Given the description of an element on the screen output the (x, y) to click on. 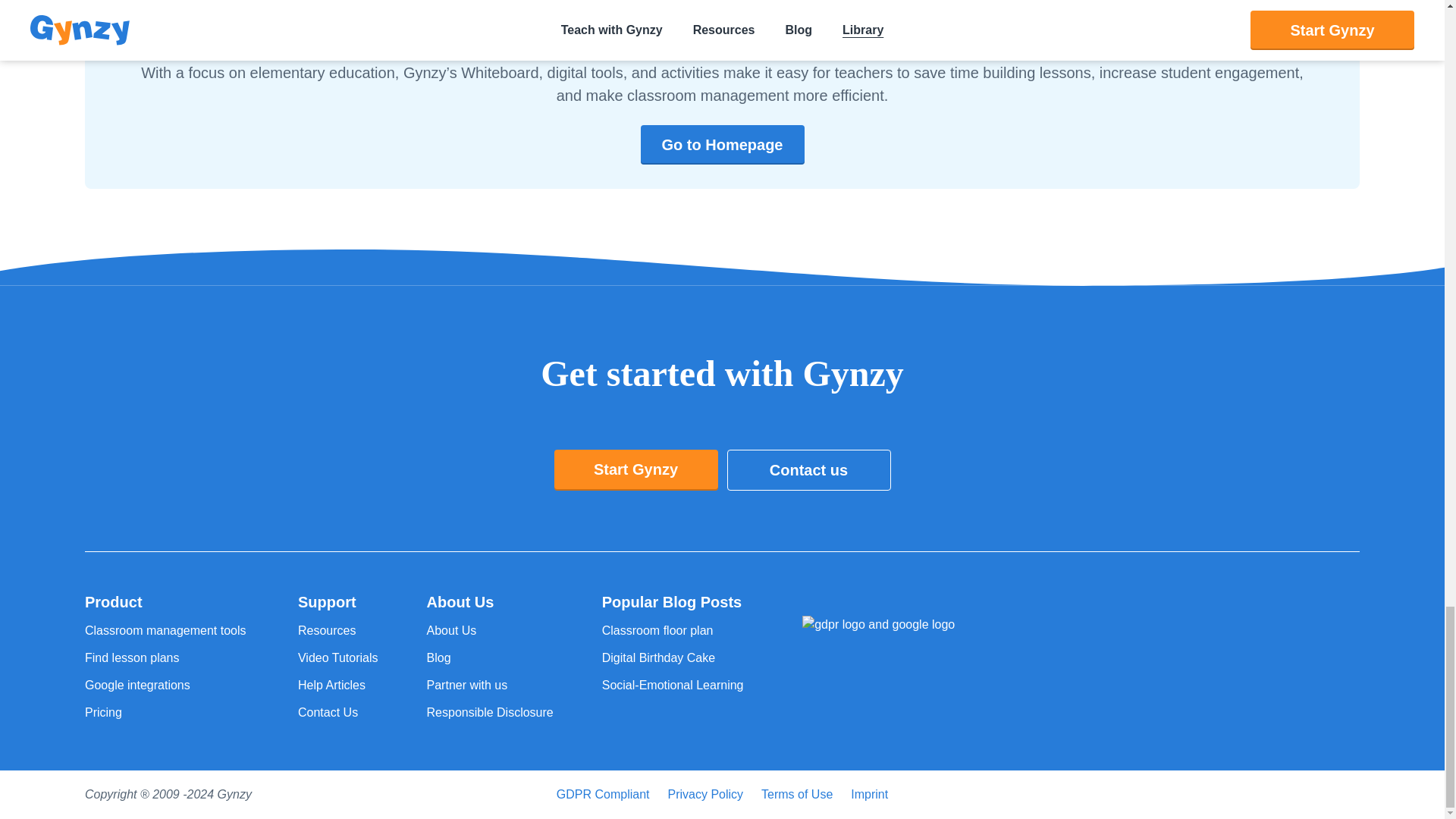
Find lesson plans (166, 658)
Support (338, 601)
Product (166, 601)
Contact us (807, 469)
Help Articles (338, 685)
Go to Homepage (721, 144)
Google integrations (166, 685)
Resources (338, 630)
Start Gynzy (635, 469)
Classroom management tools  (166, 630)
